Given the description of an element on the screen output the (x, y) to click on. 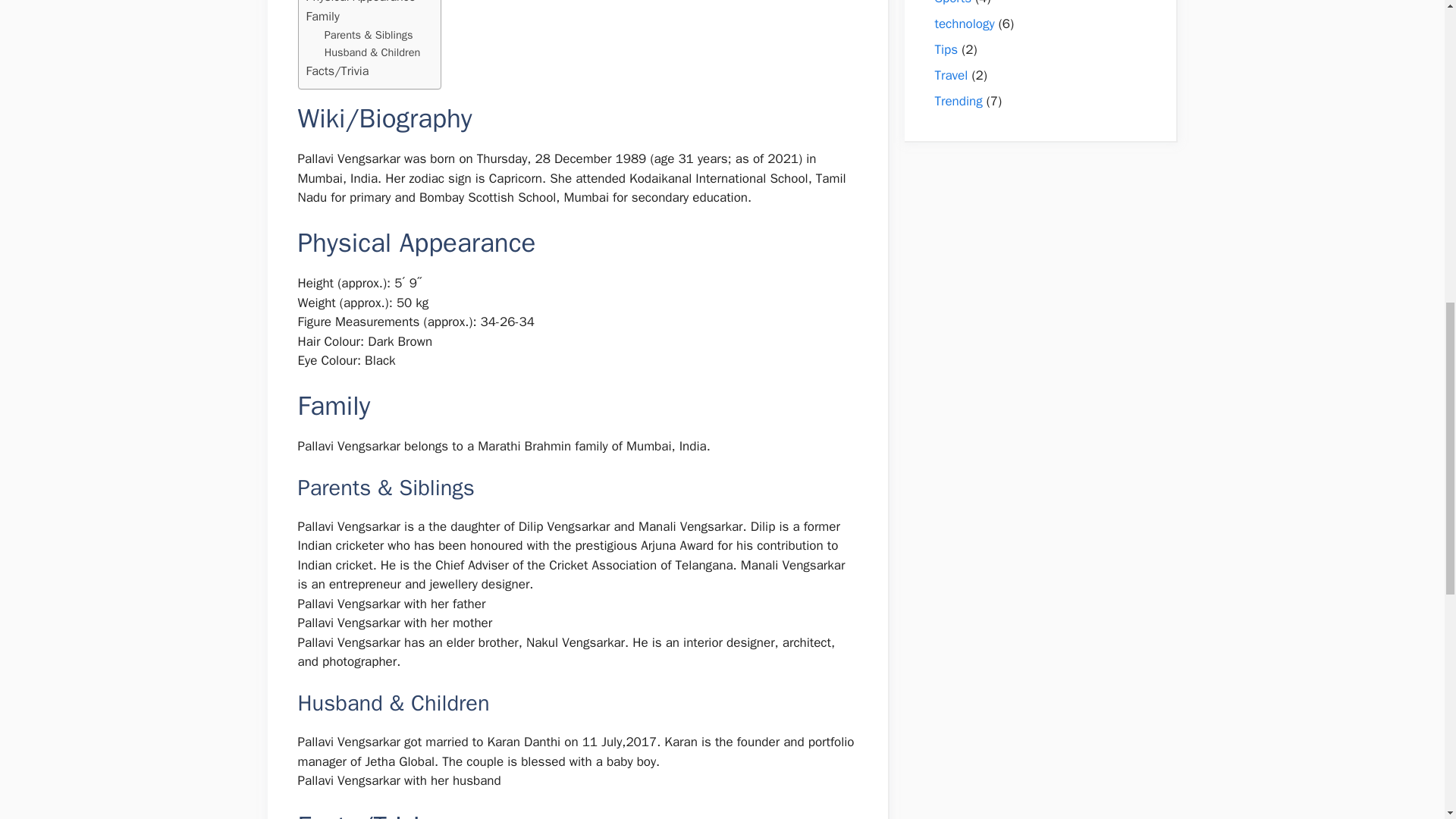
Physical Appearance (360, 3)
Physical Appearance (360, 3)
Family (322, 16)
